Given the description of an element on the screen output the (x, y) to click on. 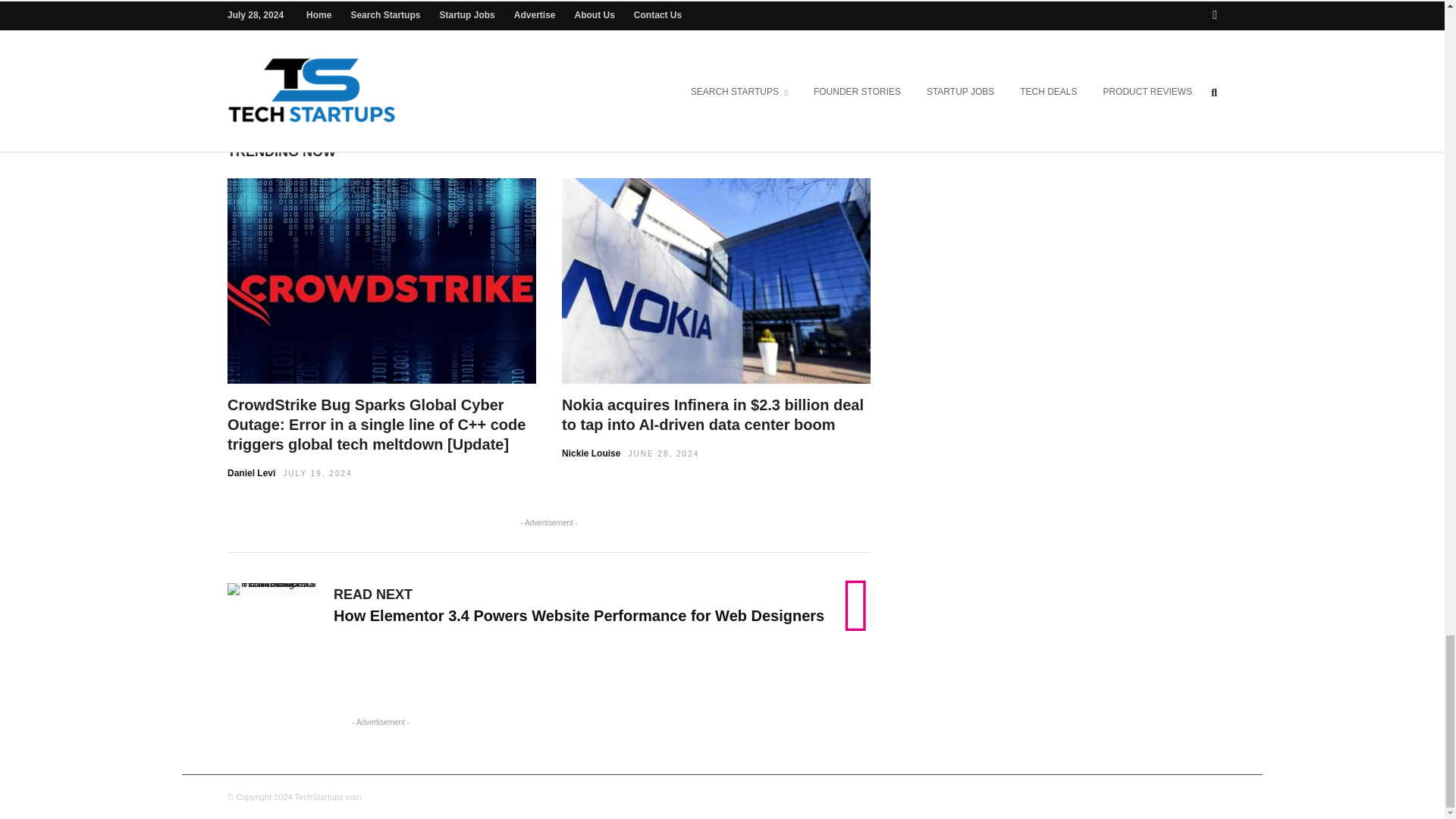
Share On Pinterest (662, 56)
Share On Twitter (586, 56)
Share by Email (711, 56)
Share On Facebook (446, 56)
